Given the description of an element on the screen output the (x, y) to click on. 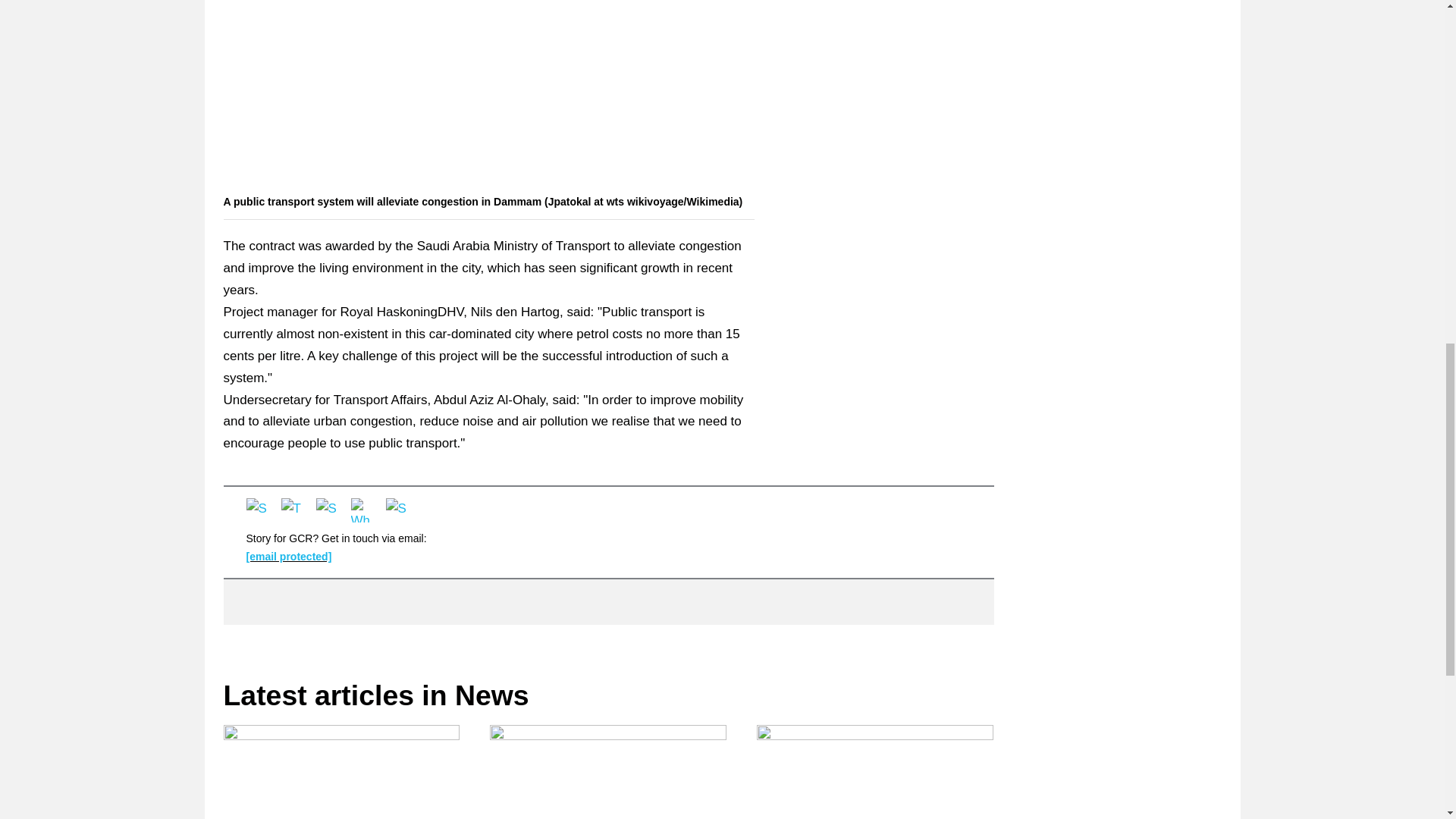
Share on WhatsApp (362, 509)
Turner Construction buys Irish engineer Dornan (341, 771)
Share on LinkedIn (327, 509)
Tweet (292, 509)
Share on Facebook (257, 509)
Send email (397, 509)
